Given the description of an element on the screen output the (x, y) to click on. 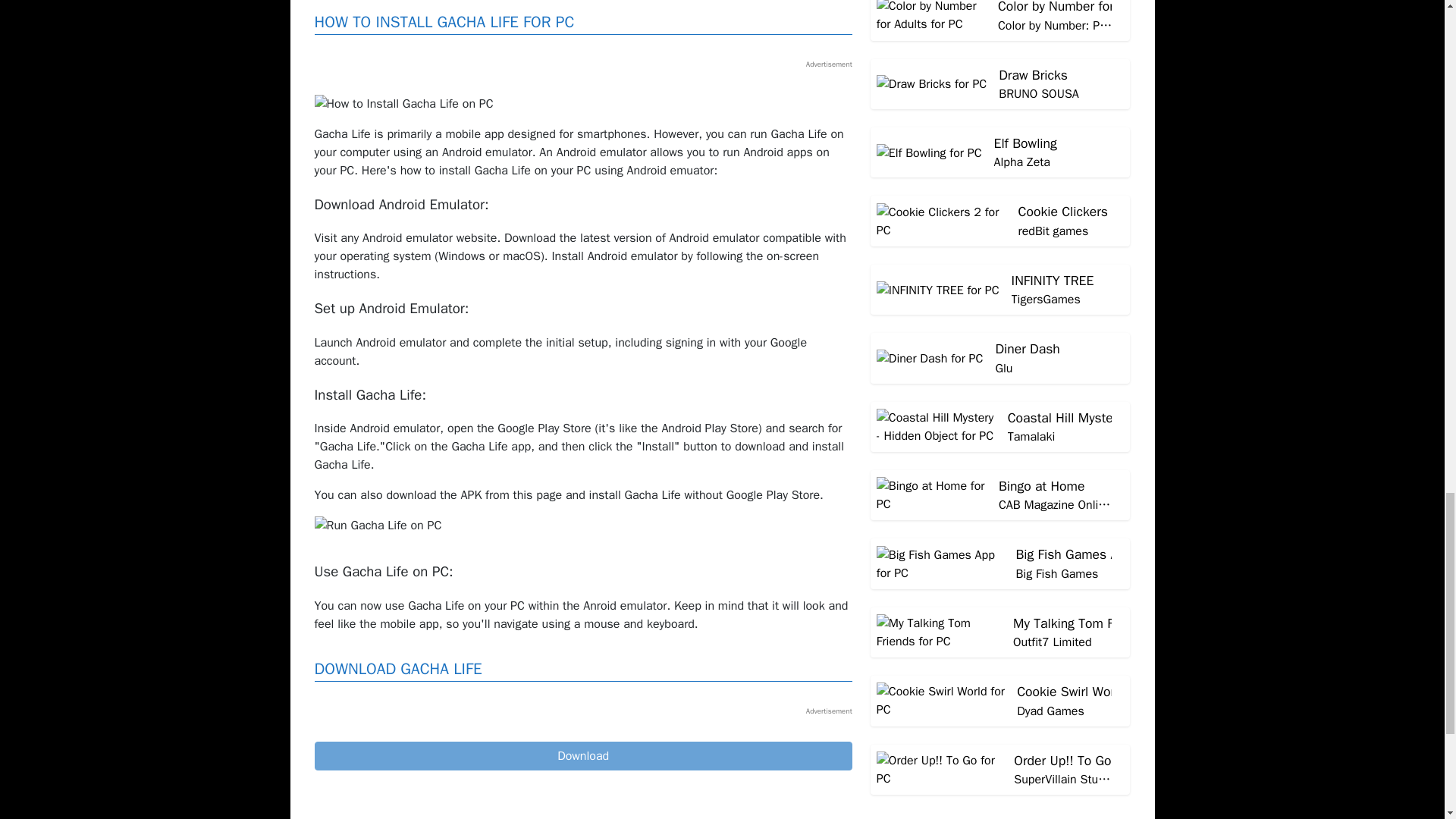
Run Gacha Life on PC (377, 525)
Download (582, 756)
How to Install Gacha Life on PC (403, 104)
Gacha Life (582, 756)
